Given the description of an element on the screen output the (x, y) to click on. 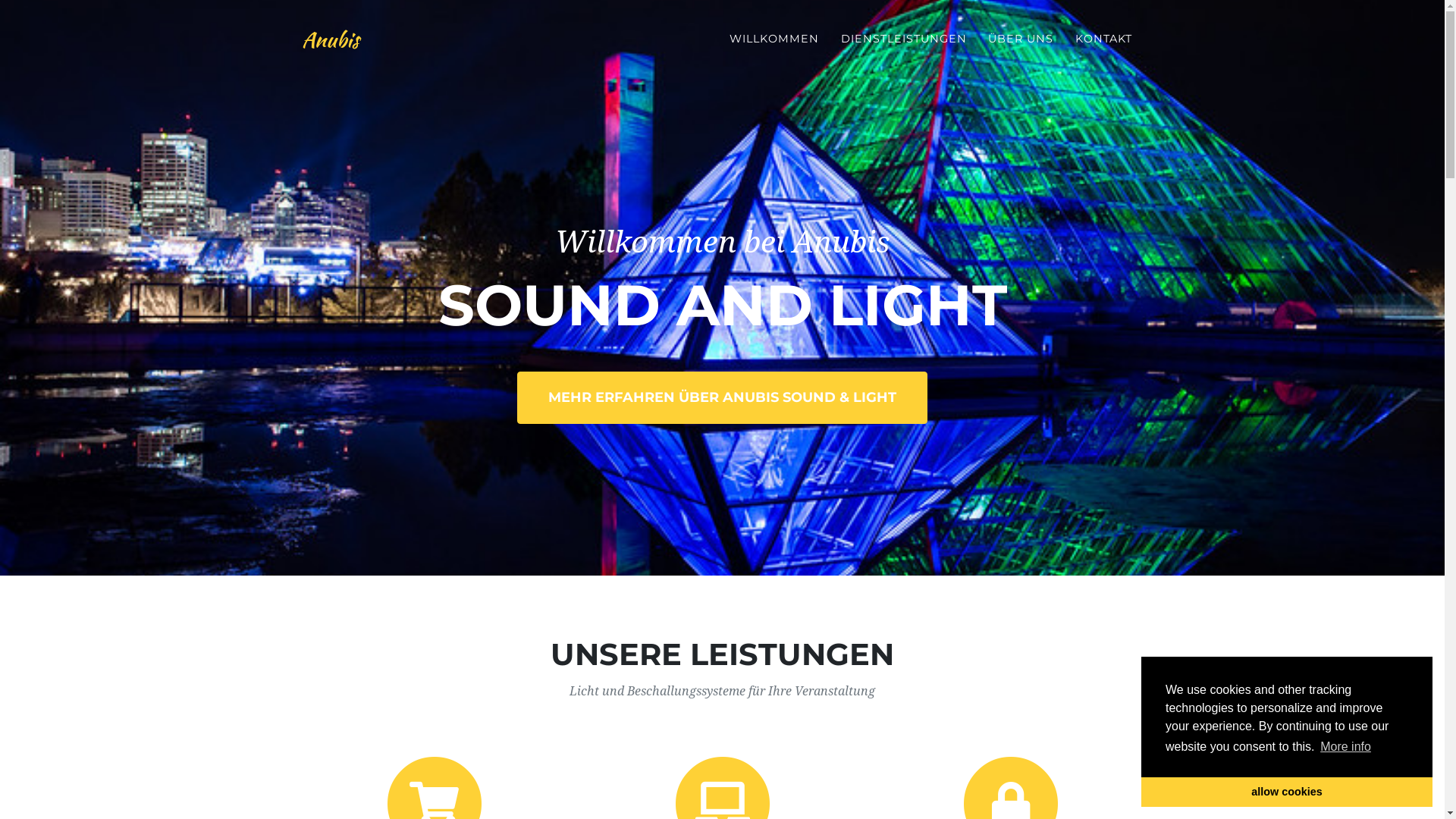
allow cookies Element type: text (1286, 791)
DIENSTLEISTUNGEN Element type: text (903, 38)
KONTAKT Element type: text (1103, 38)
More info Element type: text (1345, 746)
Anubis Element type: text (330, 39)
WILLKOMMEN Element type: text (773, 38)
